Given the description of an element on the screen output the (x, y) to click on. 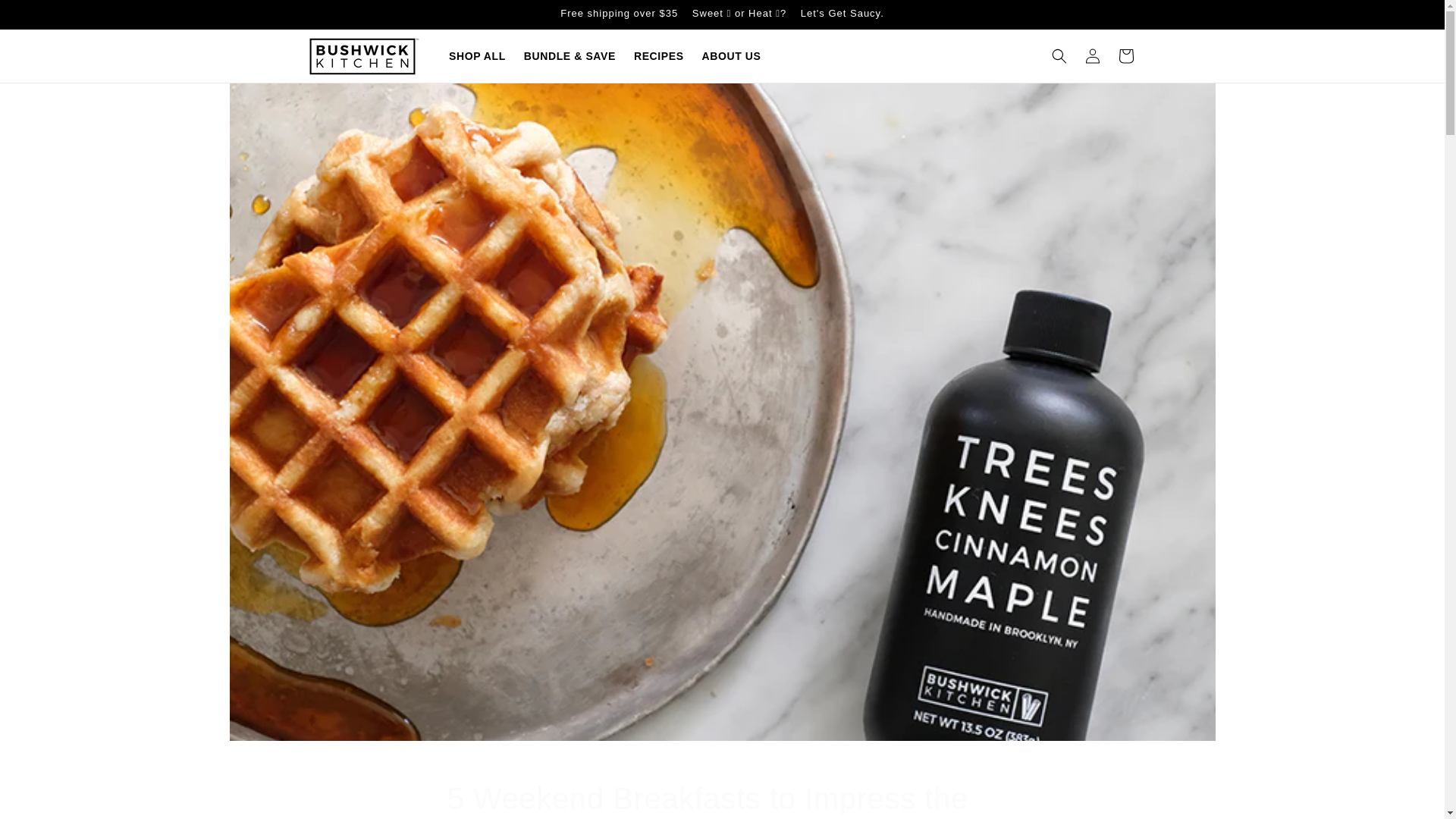
Cart (1124, 55)
SHOP ALL (477, 56)
Skip to content (45, 17)
Log in (1091, 55)
RECIPES (658, 56)
ABOUT US (721, 798)
